Given the description of an element on the screen output the (x, y) to click on. 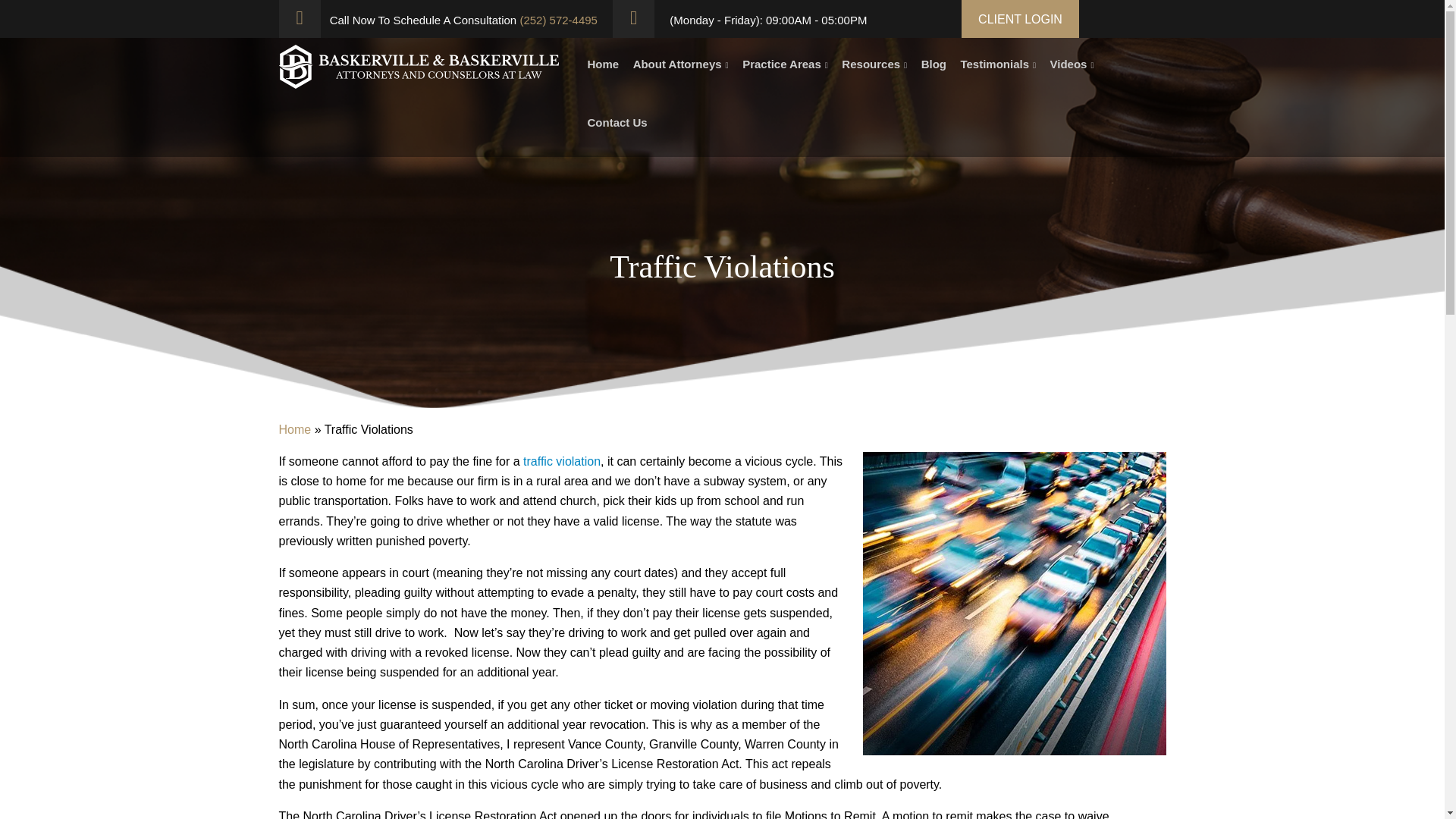
Practice Areas (785, 69)
About Attorneys (681, 69)
CLIENT LOGIN (1019, 18)
